Given the description of an element on the screen output the (x, y) to click on. 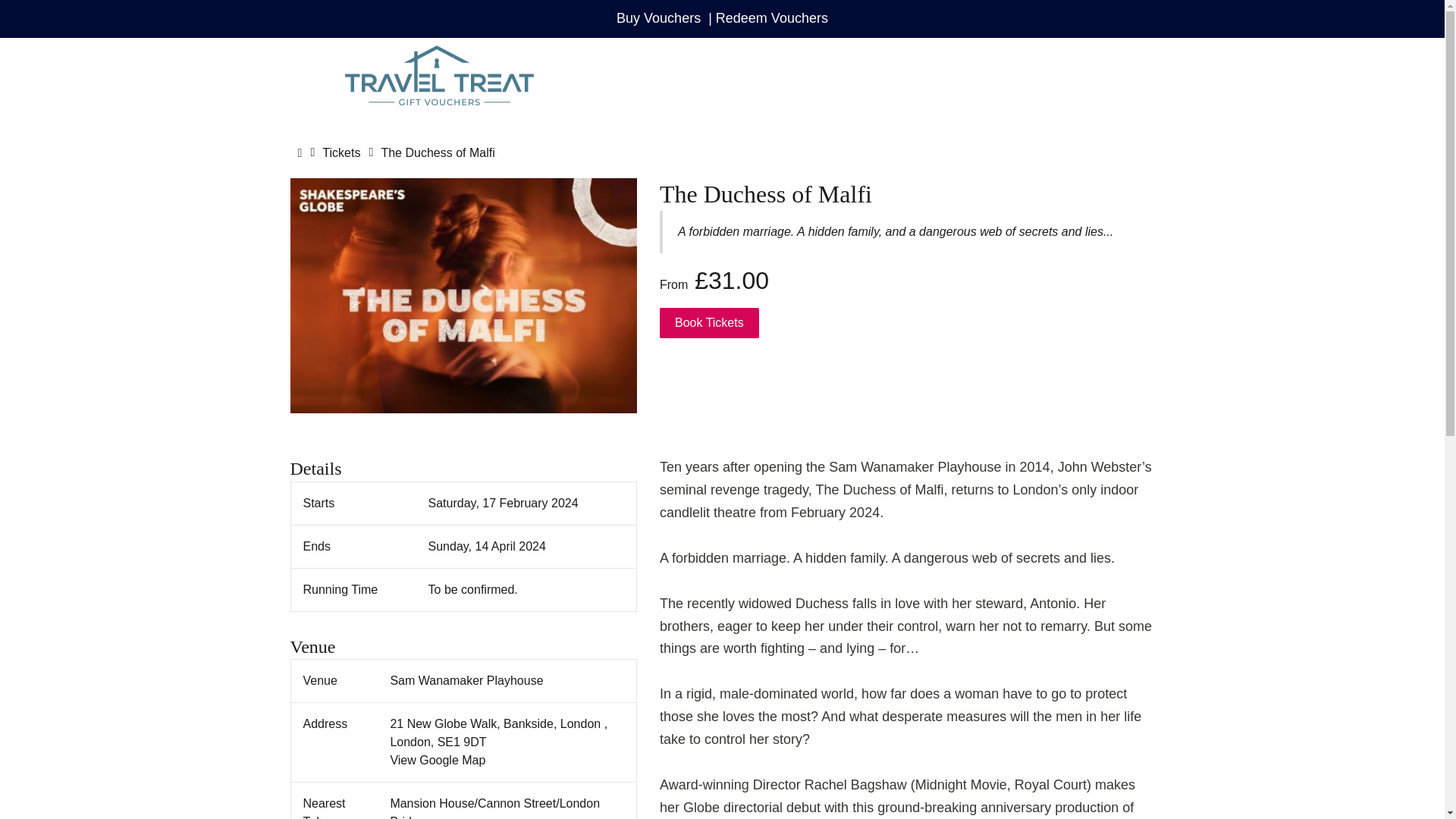
Sam Wanamaker Playhouse (466, 680)
Tickets (340, 152)
Buy Vouchers (657, 17)
Redeem Vouchers (772, 17)
View Google Map (437, 759)
Sam Wanamaker Playhouse (466, 680)
Book Tickets (708, 322)
